Given the description of an element on the screen output the (x, y) to click on. 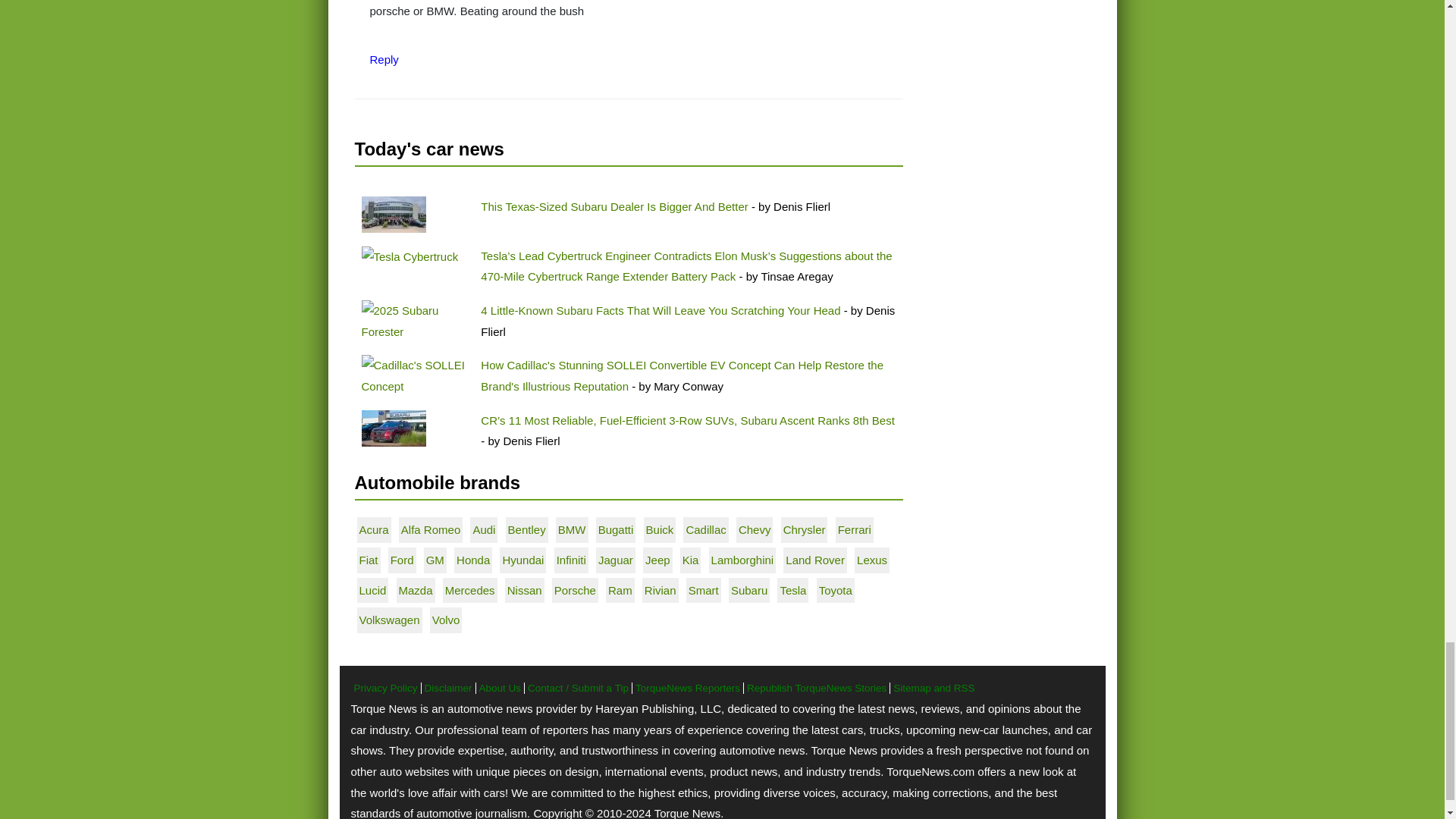
2025 Subaru Forester with younger female customer (414, 321)
2024 Subaru 5 Star with Outback and Crosstrek (393, 214)
2024 Subaru Ascent on the dealer's lot (393, 428)
Cadillac Photo (414, 375)
